Given the description of an element on the screen output the (x, y) to click on. 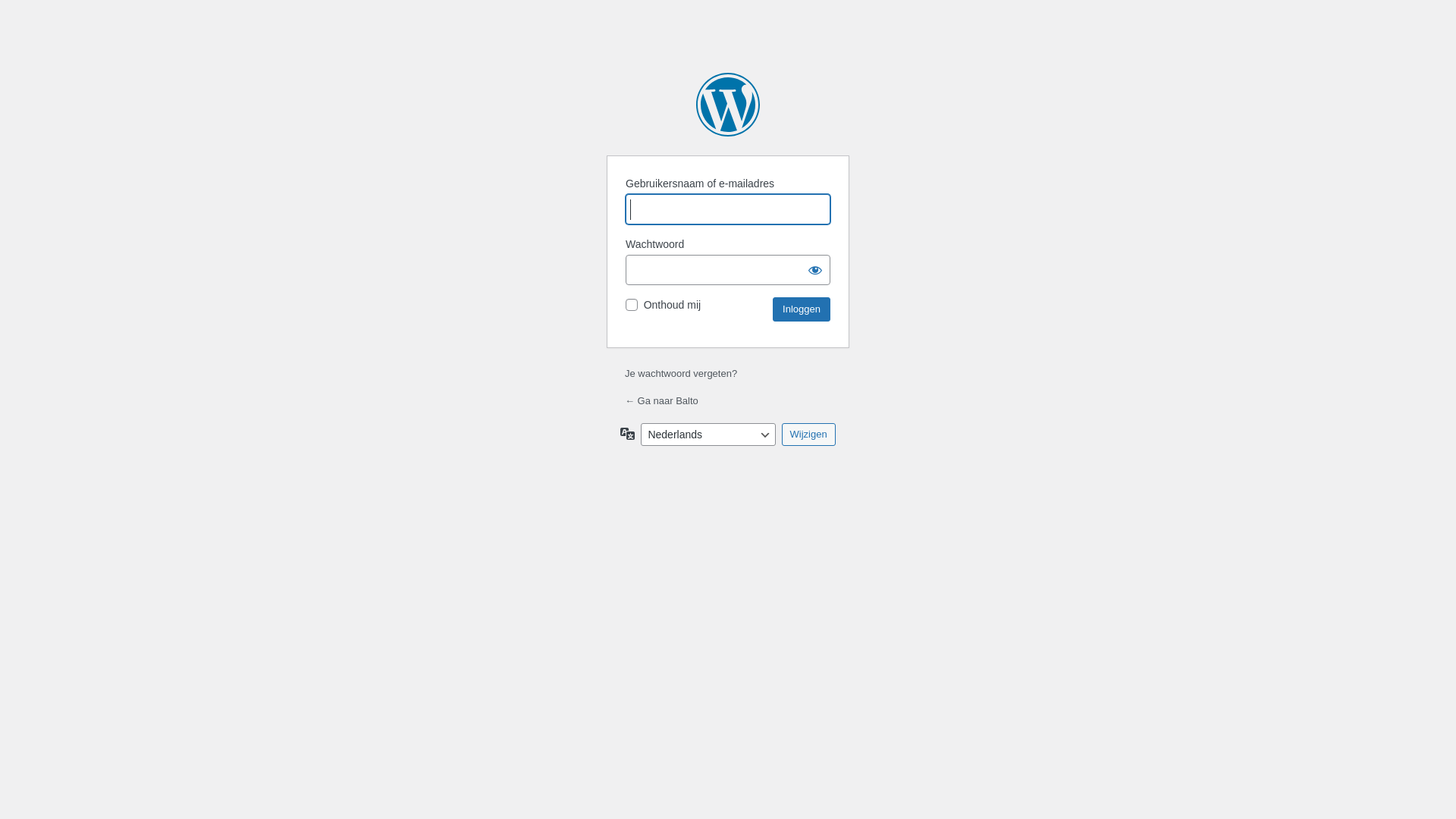
Inloggen Element type: text (801, 309)
Je wachtwoord vergeten? Element type: text (680, 373)
Wijzigen Element type: text (808, 434)
Mogelijk gemaakt door WordPress Element type: text (727, 104)
